Given the description of an element on the screen output the (x, y) to click on. 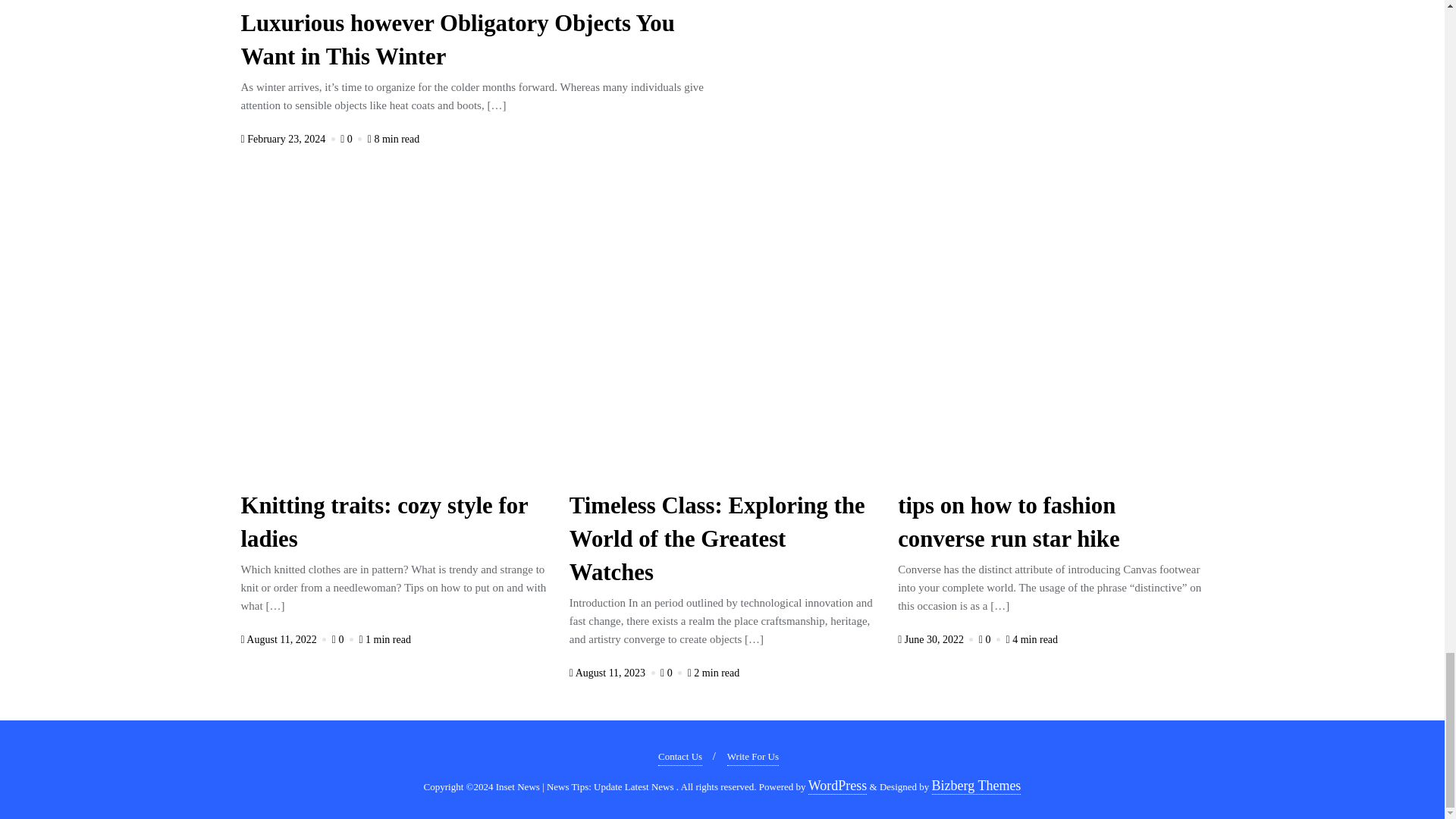
1 min read (384, 639)
0 (672, 672)
8 min read (394, 138)
0 (352, 138)
Timeless Class: Exploring the World of the Greatest Watches (716, 541)
0 (343, 639)
Luxurious however Obligatory Objects You Want in This Winter (458, 42)
2 min read (713, 672)
August 11, 2023 (613, 672)
Knitting traits: cozy style for ladies (384, 524)
August 11, 2022 (285, 639)
February 23, 2024 (289, 138)
